Given the description of an element on the screen output the (x, y) to click on. 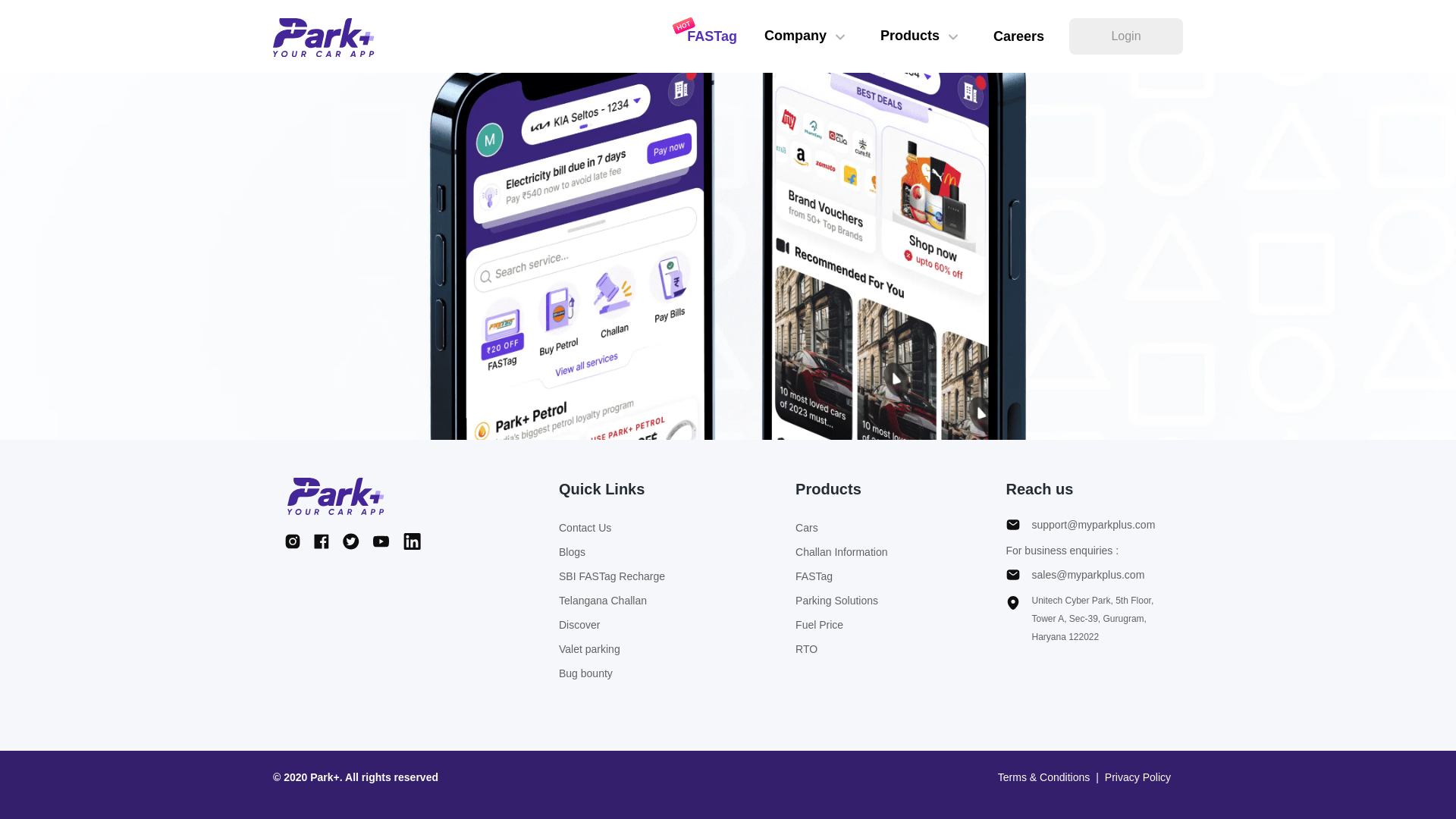
Blogs (612, 551)
Contact Us (612, 527)
SBI FASTag Recharge (612, 576)
Discover (612, 624)
Telangana Challan (612, 600)
Valet parking (612, 648)
